Given the description of an element on the screen output the (x, y) to click on. 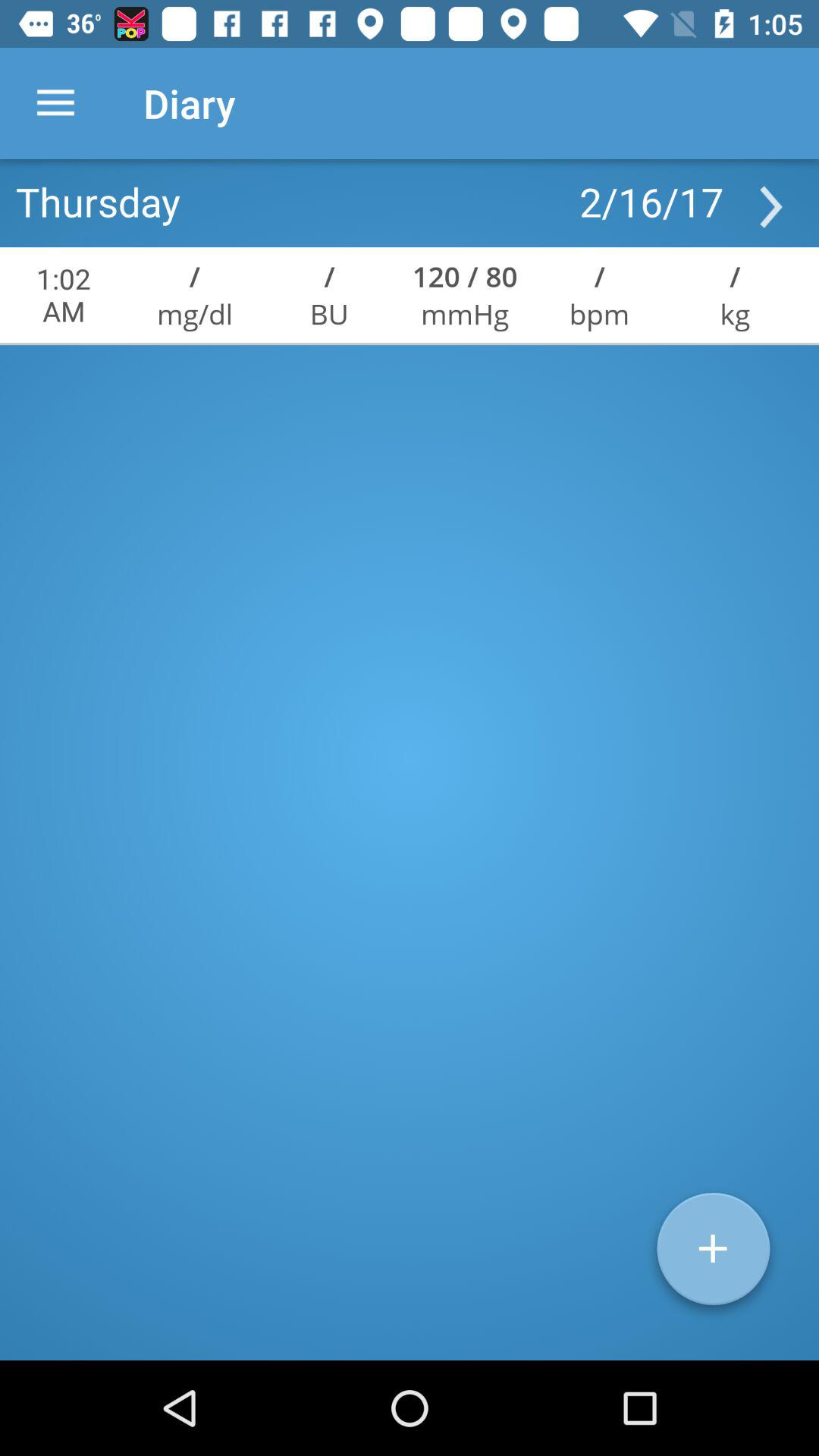
turn off icon next to bpm icon (464, 313)
